Given the description of an element on the screen output the (x, y) to click on. 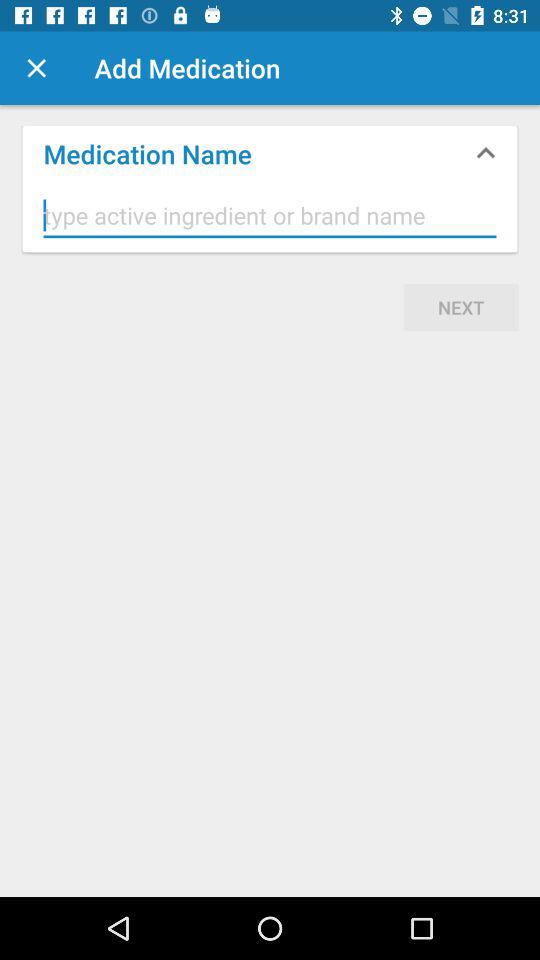
close the window (36, 68)
